Given the description of an element on the screen output the (x, y) to click on. 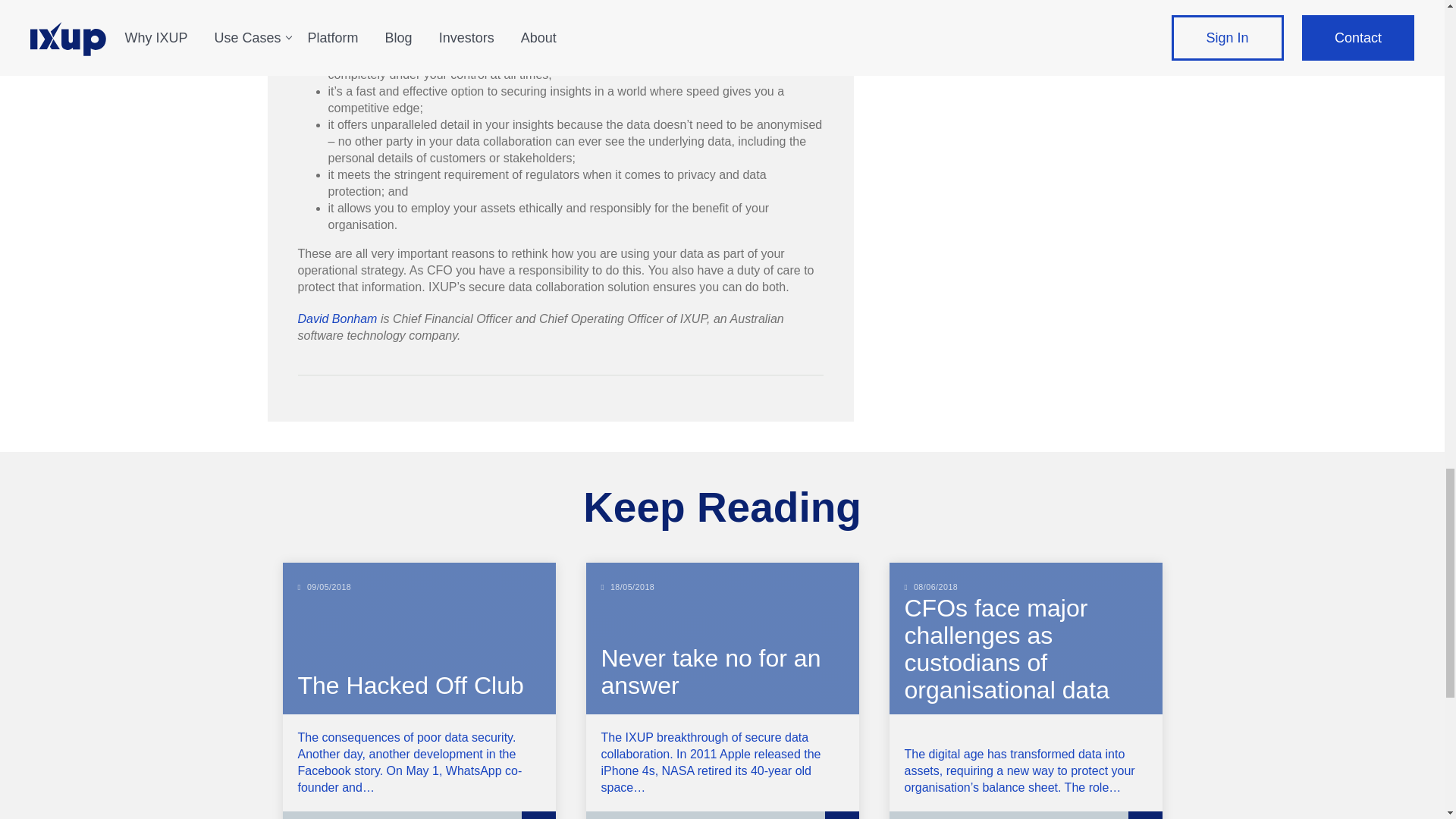
David Bonham (337, 318)
